Given the description of an element on the screen output the (x, y) to click on. 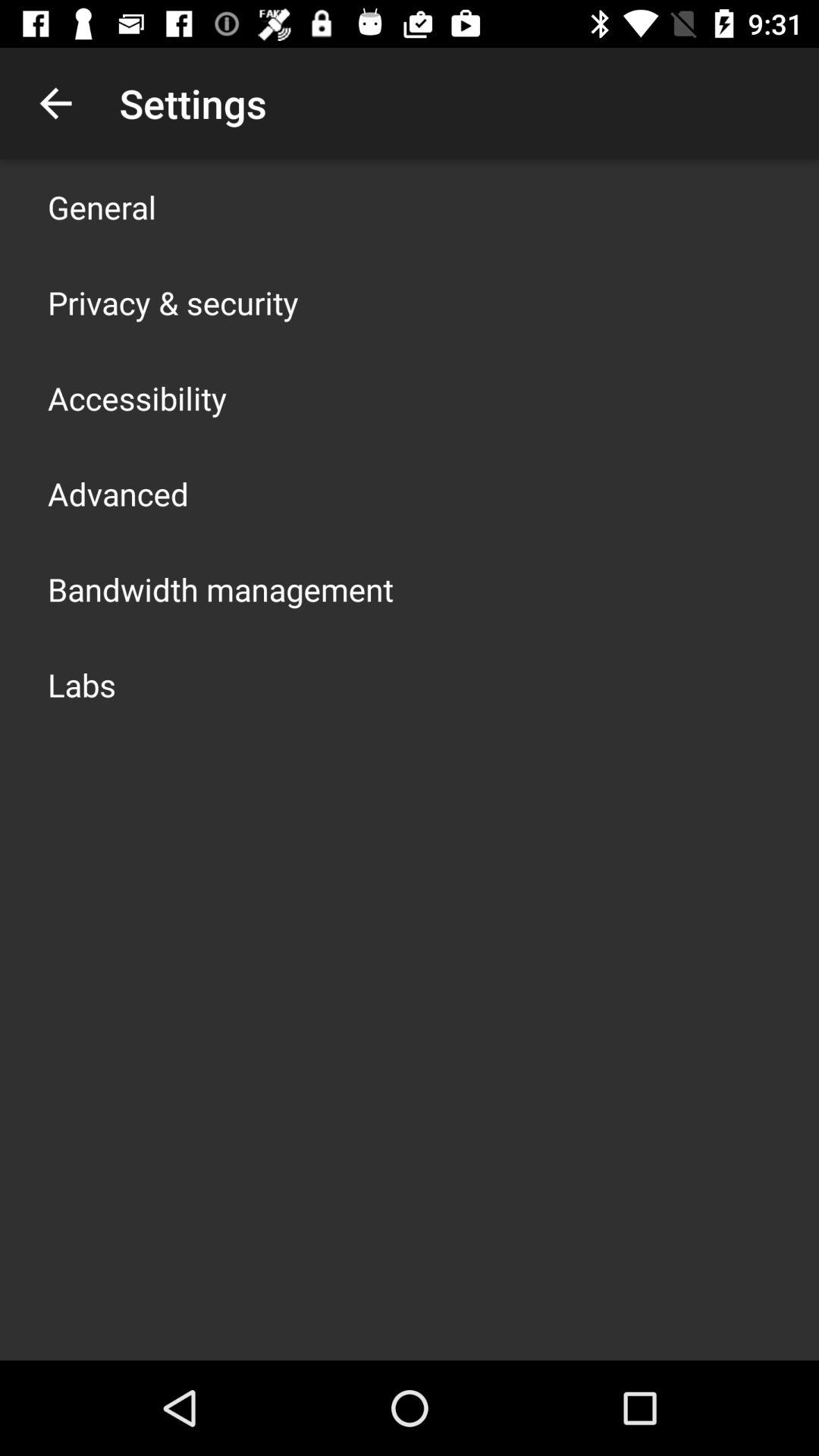
turn on icon below advanced icon (220, 588)
